Given the description of an element on the screen output the (x, y) to click on. 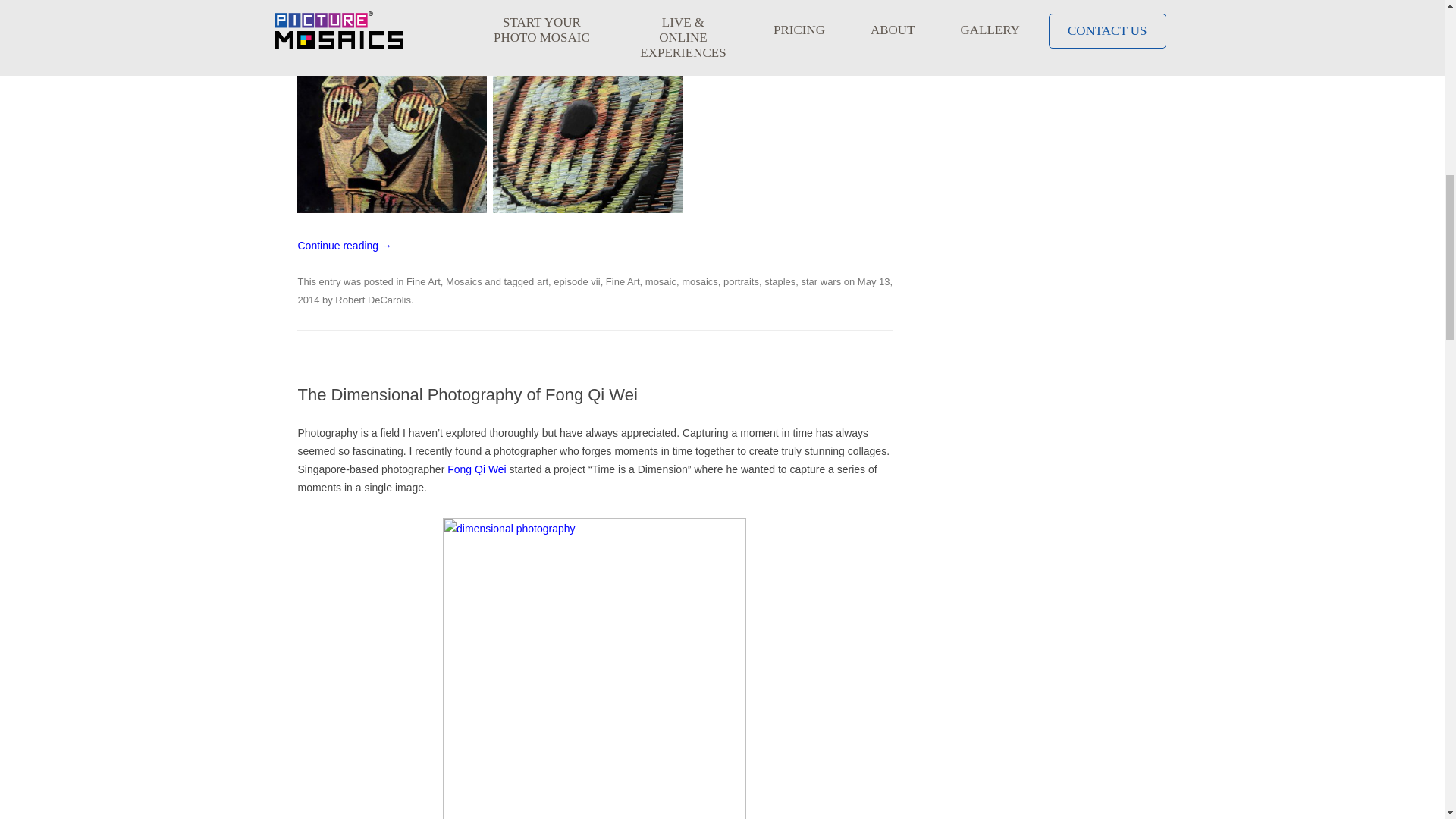
James Haggerty: Official Site (801, 29)
View all posts by Robert DeCarolis (372, 299)
8:04 PM (594, 290)
